Given the description of an element on the screen output the (x, y) to click on. 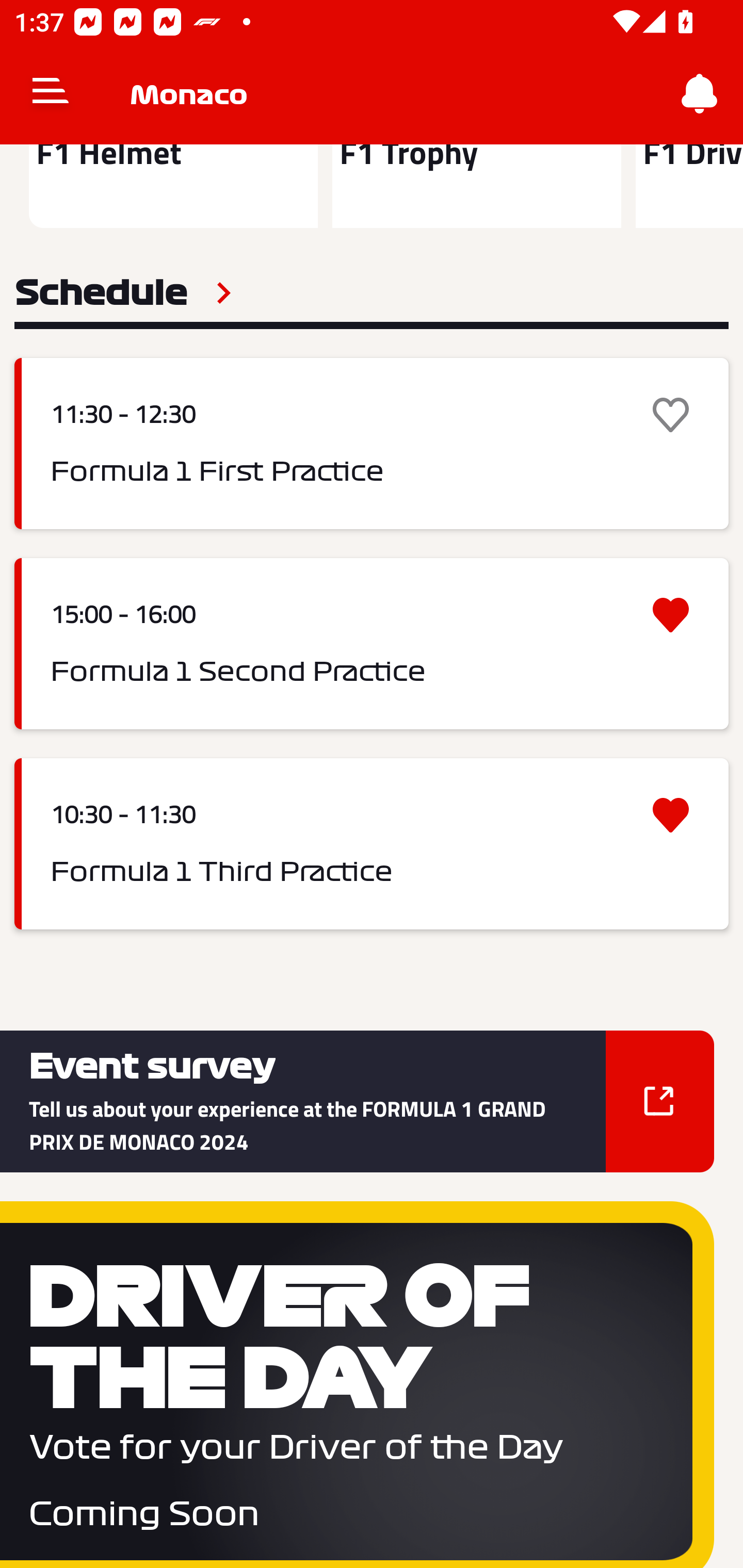
Navigate up (50, 93)
Notifications (699, 93)
F1 Helmet (173, 185)
F1 Trophy (476, 185)
Schedule (122, 293)
11:30 - 12:30 Formula 1 First Practice (371, 443)
15:00 - 16:00 Formula 1 Second Practice (371, 643)
10:30 - 11:30 Formula 1 Third Practice (371, 843)
